Given the description of an element on the screen output the (x, y) to click on. 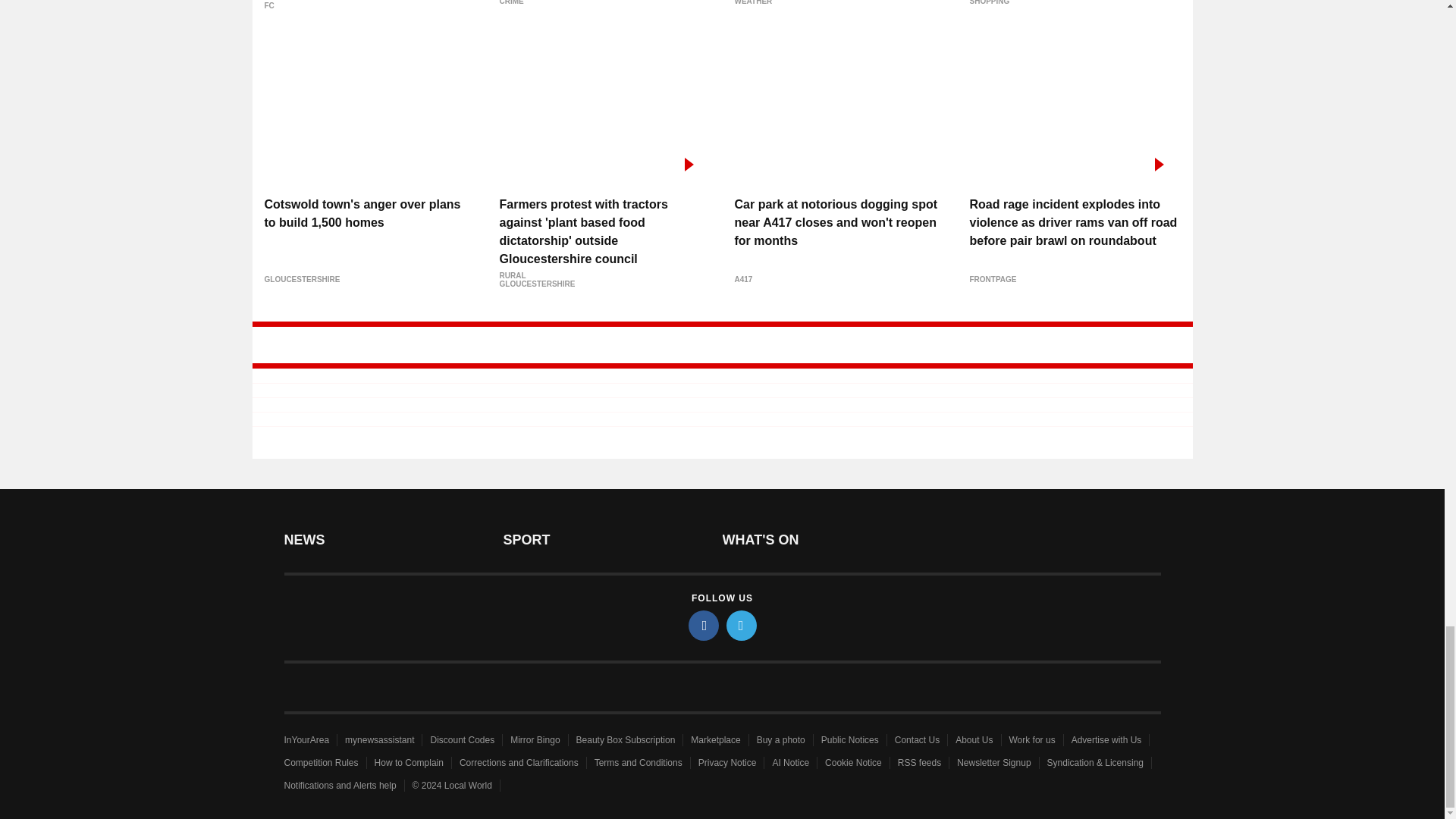
facebook (703, 625)
twitter (741, 625)
